Given the description of an element on the screen output the (x, y) to click on. 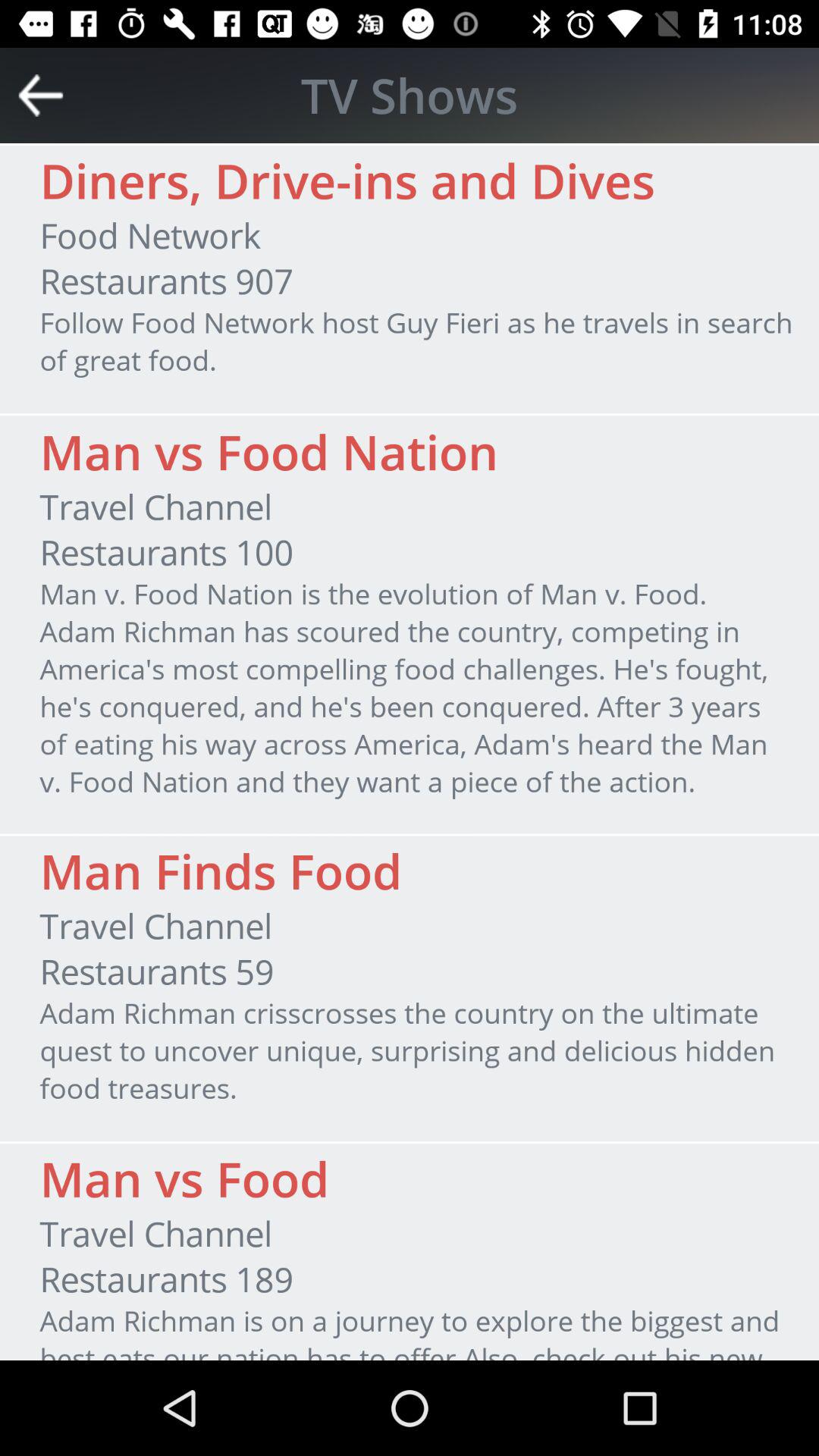
go to previous (41, 95)
